Given the description of an element on the screen output the (x, y) to click on. 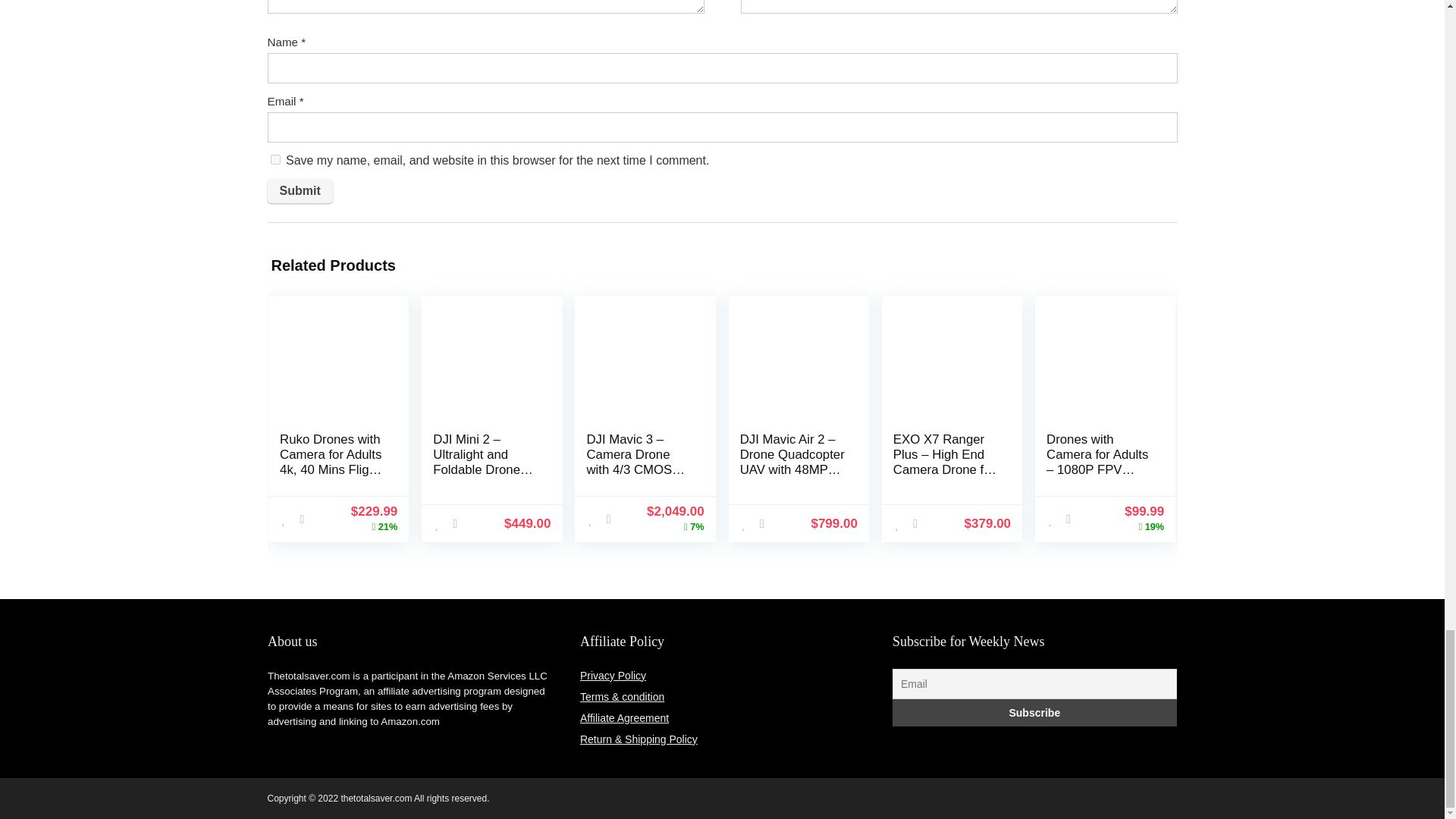
yes (274, 159)
Submit (298, 191)
Subscribe (1034, 712)
